Given the description of an element on the screen output the (x, y) to click on. 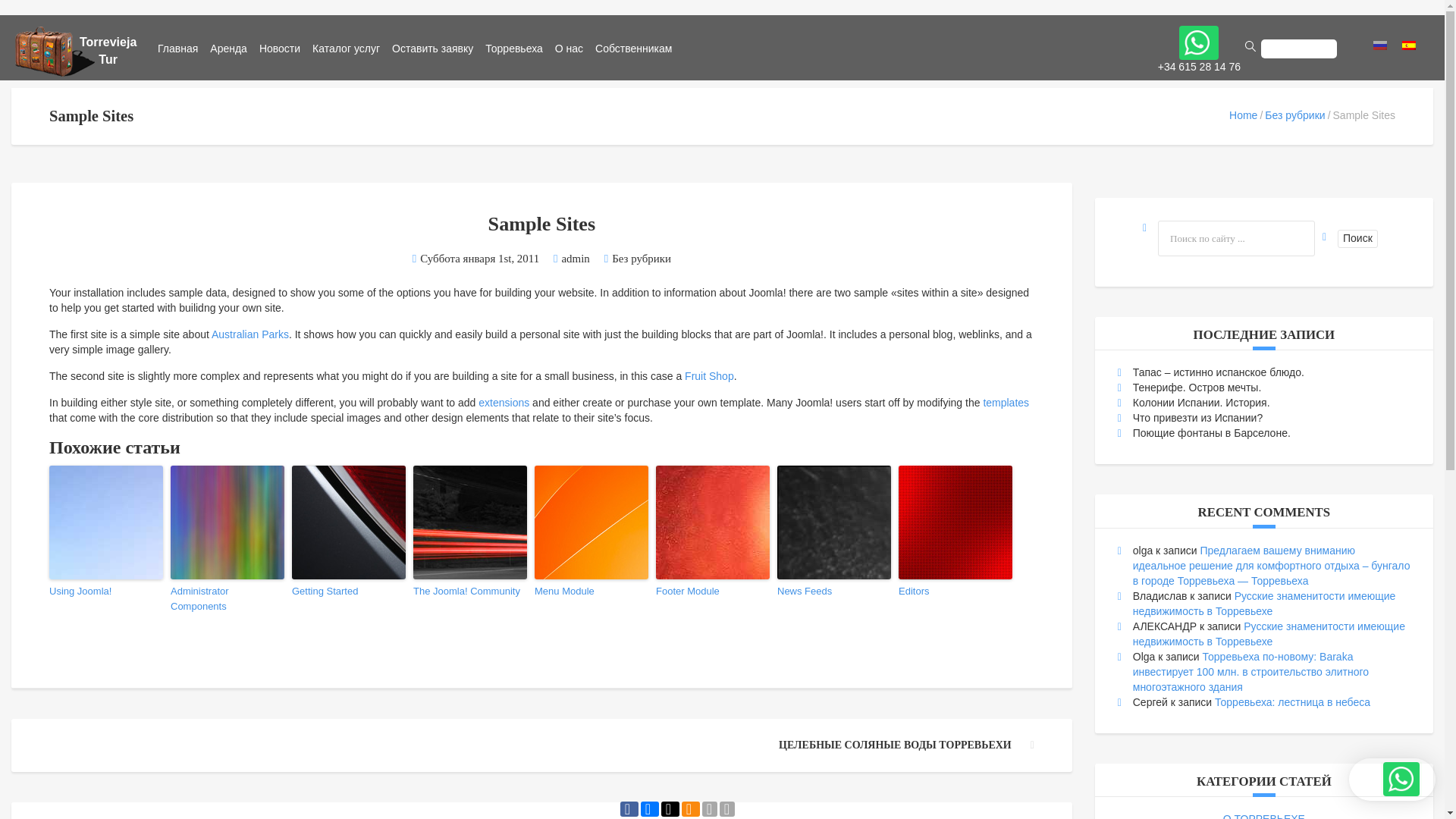
Using Joomla! (106, 591)
Fruit Shop (708, 376)
Footer Module (713, 591)
admin (574, 258)
Administrator Components (226, 599)
Menu Module (590, 591)
Smartsupp widget button (1392, 779)
templates (1005, 402)
Getting Started (349, 591)
News Feeds (834, 591)
The Joomla! Community (470, 591)
extensions (504, 402)
Home (1242, 114)
Australian Parks (249, 334)
